Given the description of an element on the screen output the (x, y) to click on. 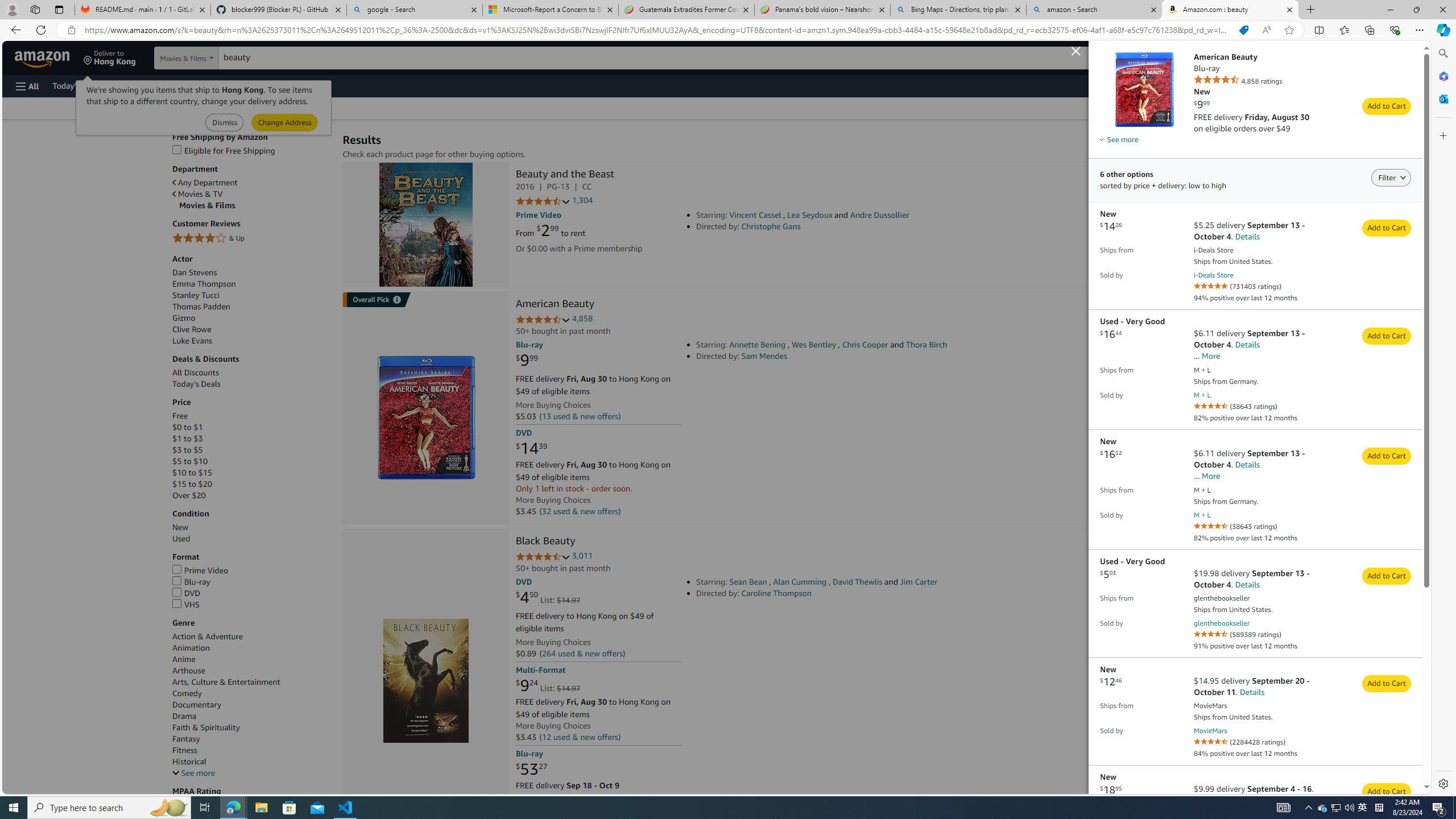
All Discounts (251, 372)
Delete (1415, 245)
$9.99 (526, 360)
Fantasy (185, 738)
All Discounts (194, 372)
Add to Cart from seller glenthebookseller and price $5.03  (1386, 575)
Thomas Padden (200, 306)
Add to Cart from seller M + L and price $16.44  (1386, 336)
$3 to $5 (251, 450)
Wes Bentley (813, 344)
Microsoft 365 (1442, 76)
Today's Deals (251, 384)
Arthouse (251, 670)
Skip to main content (48, 56)
Eligible for Free Shipping (251, 150)
